Given the description of an element on the screen output the (x, y) to click on. 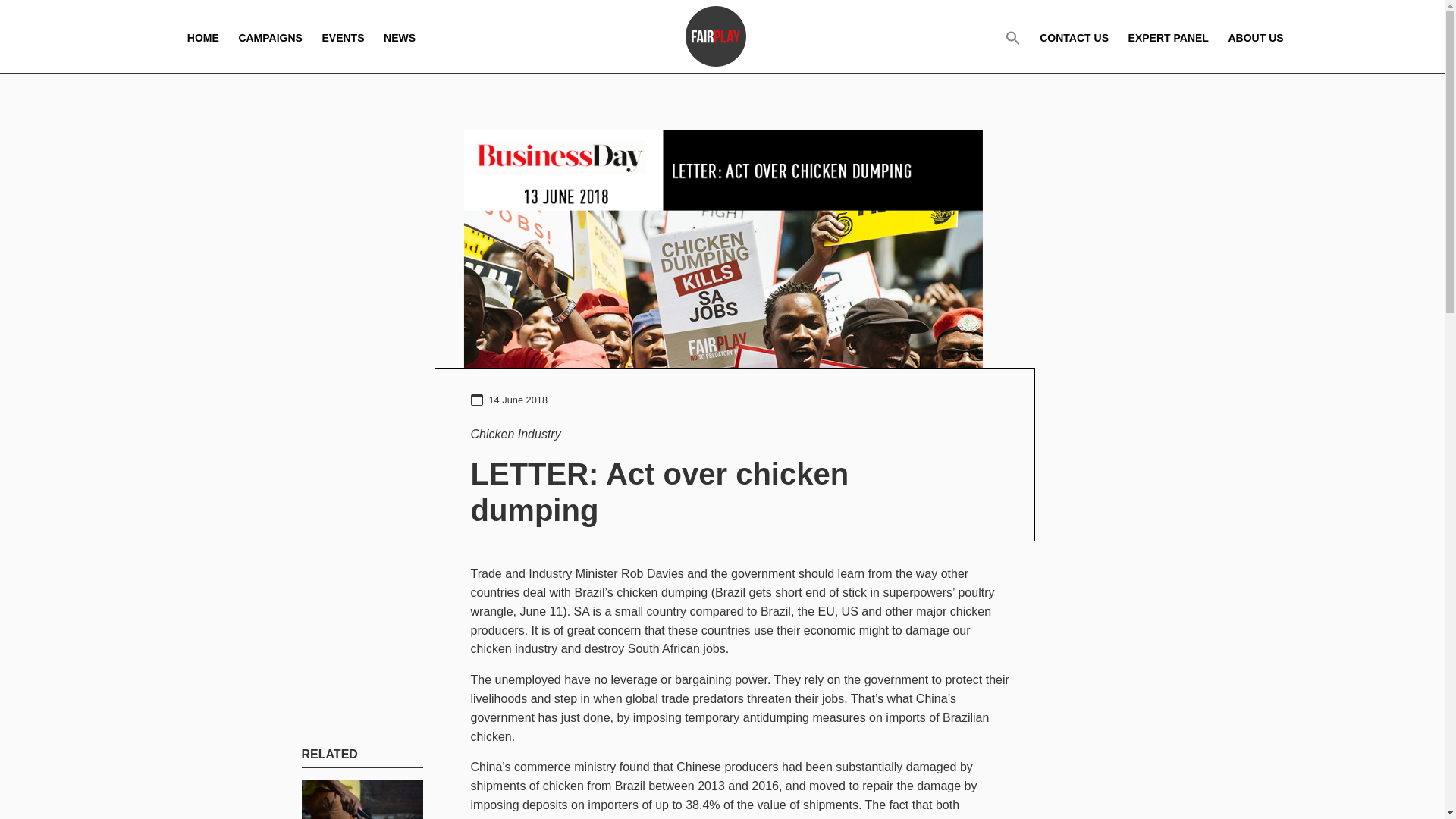
HOME (203, 36)
EXPERT PANEL (1168, 36)
CAMPAIGNS (270, 36)
NEWS (399, 36)
EVENTS (342, 36)
ABOUT US (1254, 36)
Eat local chicken and support local jobs (362, 799)
CONTACT US (1073, 36)
